Given the description of an element on the screen output the (x, y) to click on. 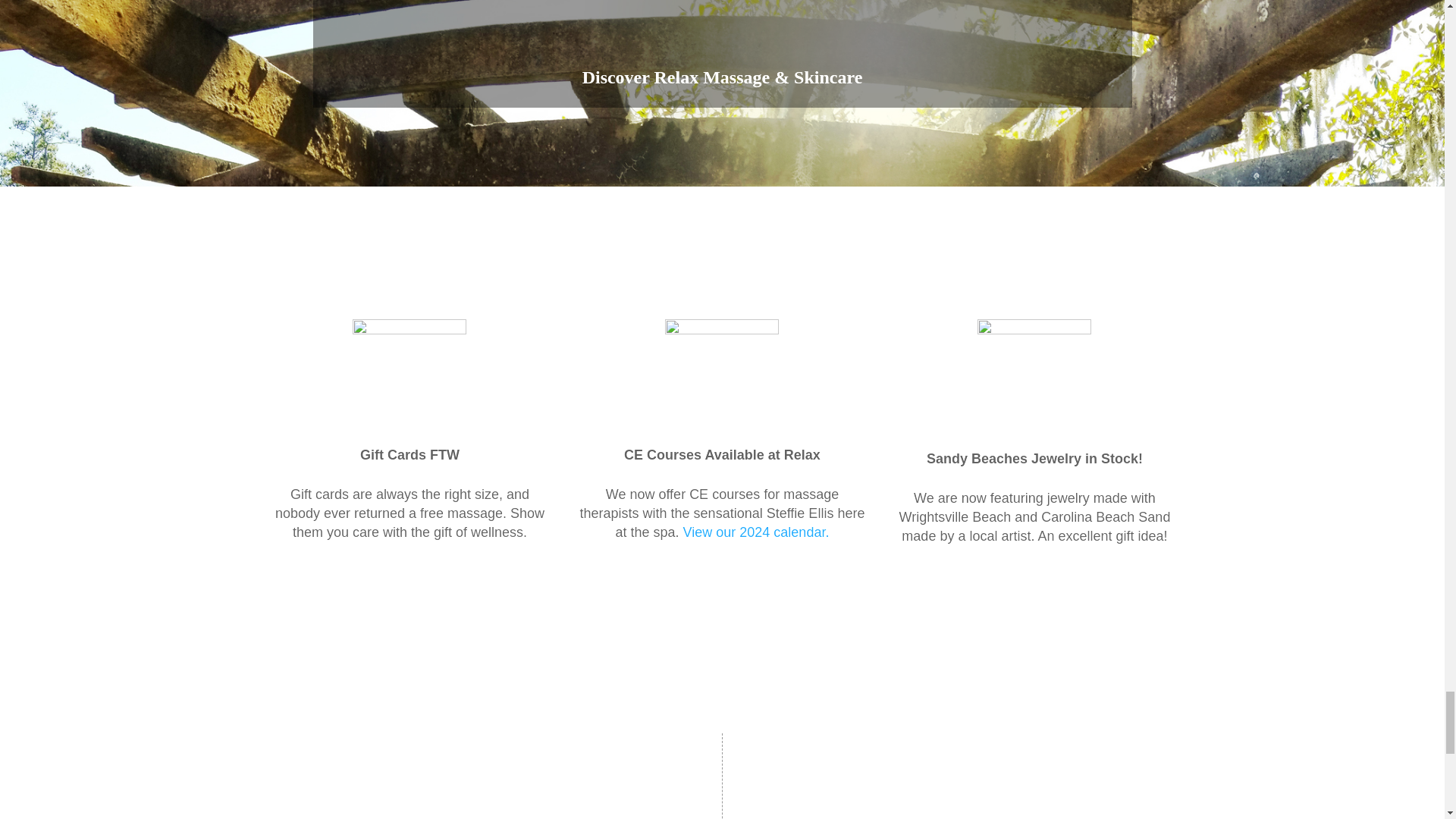
steffie (721, 376)
gift card (408, 376)
